Given the description of an element on the screen output the (x, y) to click on. 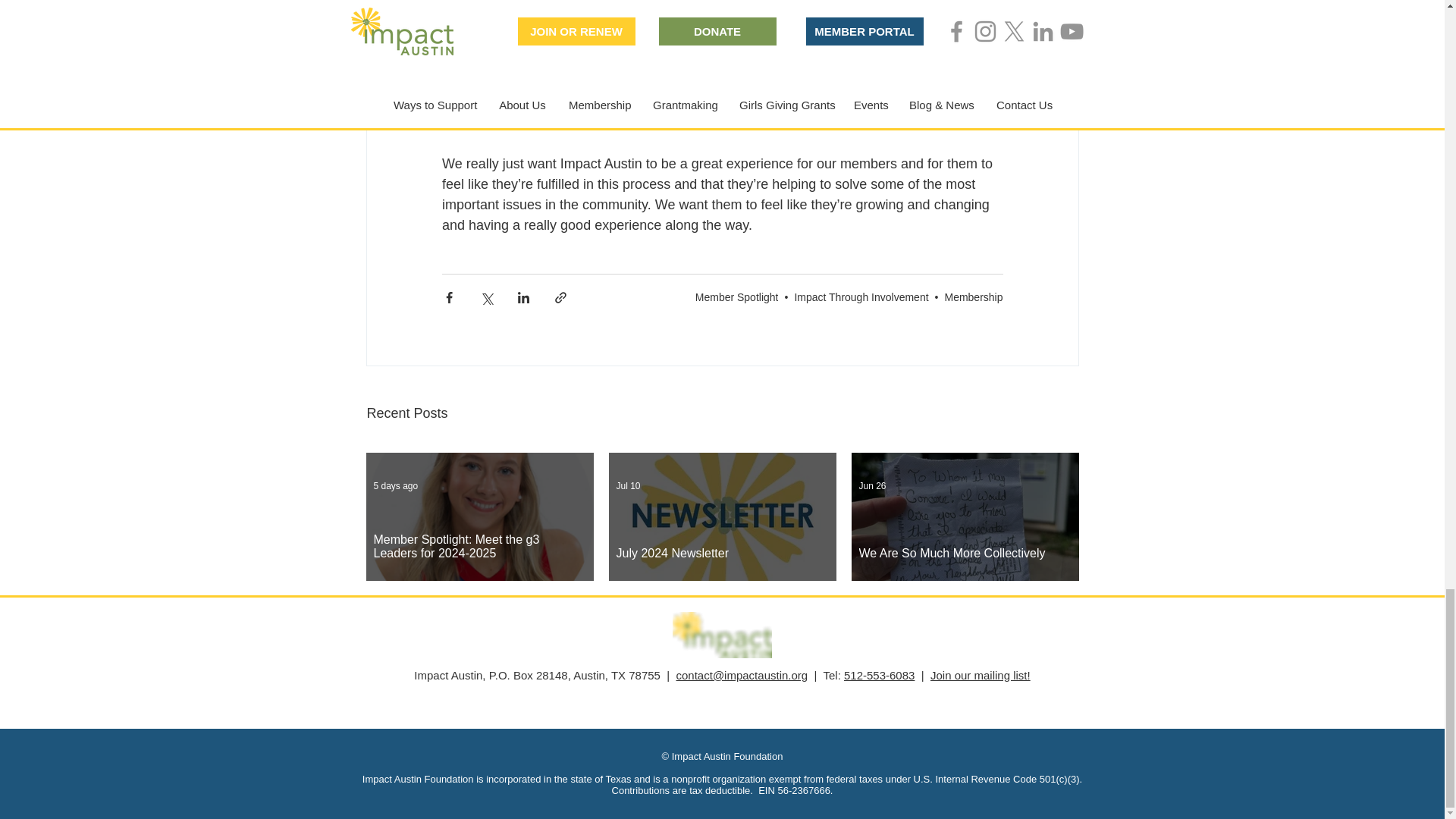
Jul 10 (627, 485)
5 days ago (394, 485)
Jun 26 (872, 485)
